Given the description of an element on the screen output the (x, y) to click on. 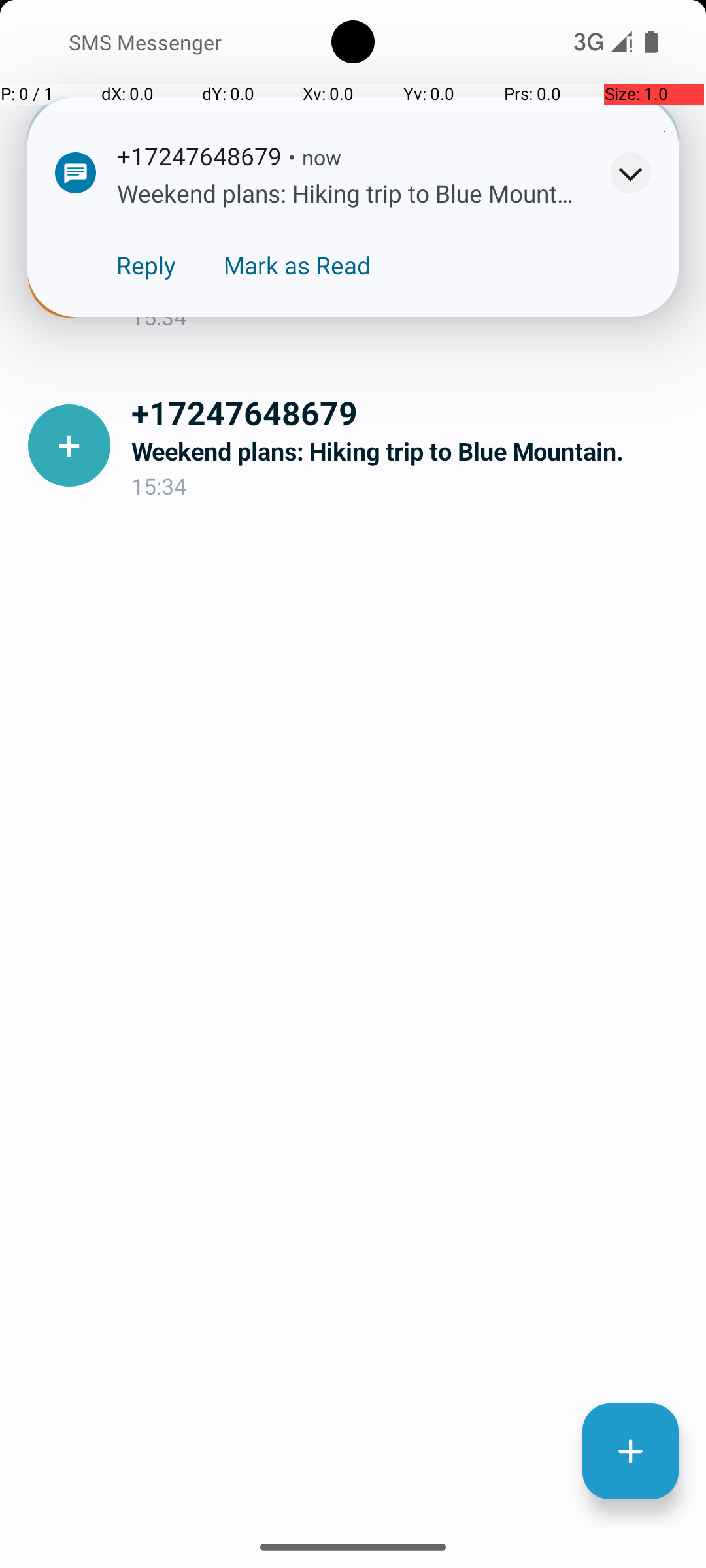
+14910090890 Element type: android.widget.TextView (408, 242)
Wedding anniversary on the 30th. Make reservations! Element type: android.widget.TextView (408, 281)
+17247648679 Element type: android.widget.TextView (408, 412)
Weekend plans: Hiking trip to Blue Mountain. Element type: android.widget.TextView (408, 450)
Reply Element type: android.widget.Button (146, 265)
Mark as Read Element type: android.widget.Button (296, 265)
